Given the description of an element on the screen output the (x, y) to click on. 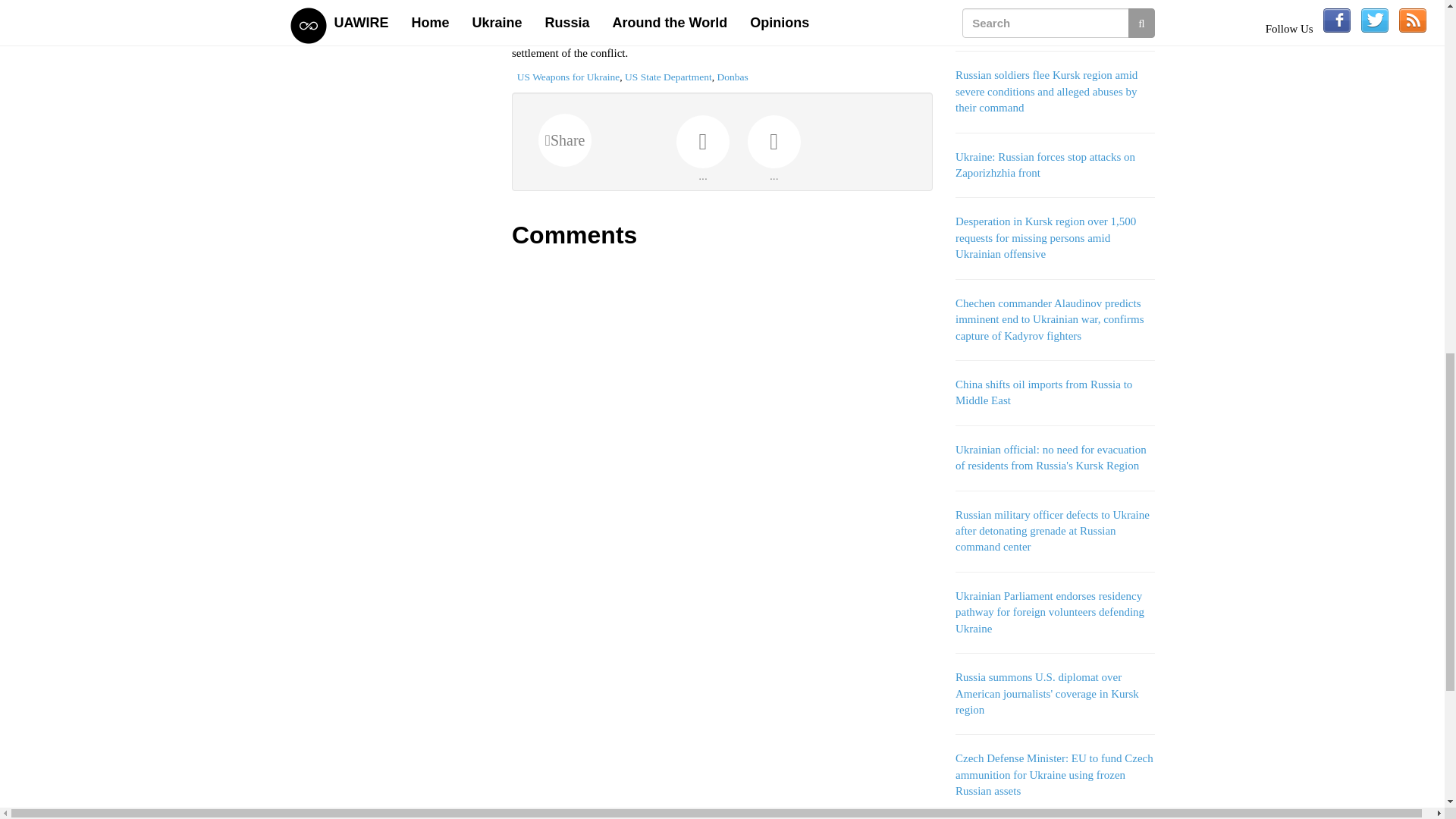
Ukraine: Russian forces stop attacks on Zaporizhzhia front (1045, 164)
US State Department (667, 76)
China shifts oil imports from Russia to Middle East (1043, 392)
US Weapons for Ukraine (568, 76)
